Given the description of an element on the screen output the (x, y) to click on. 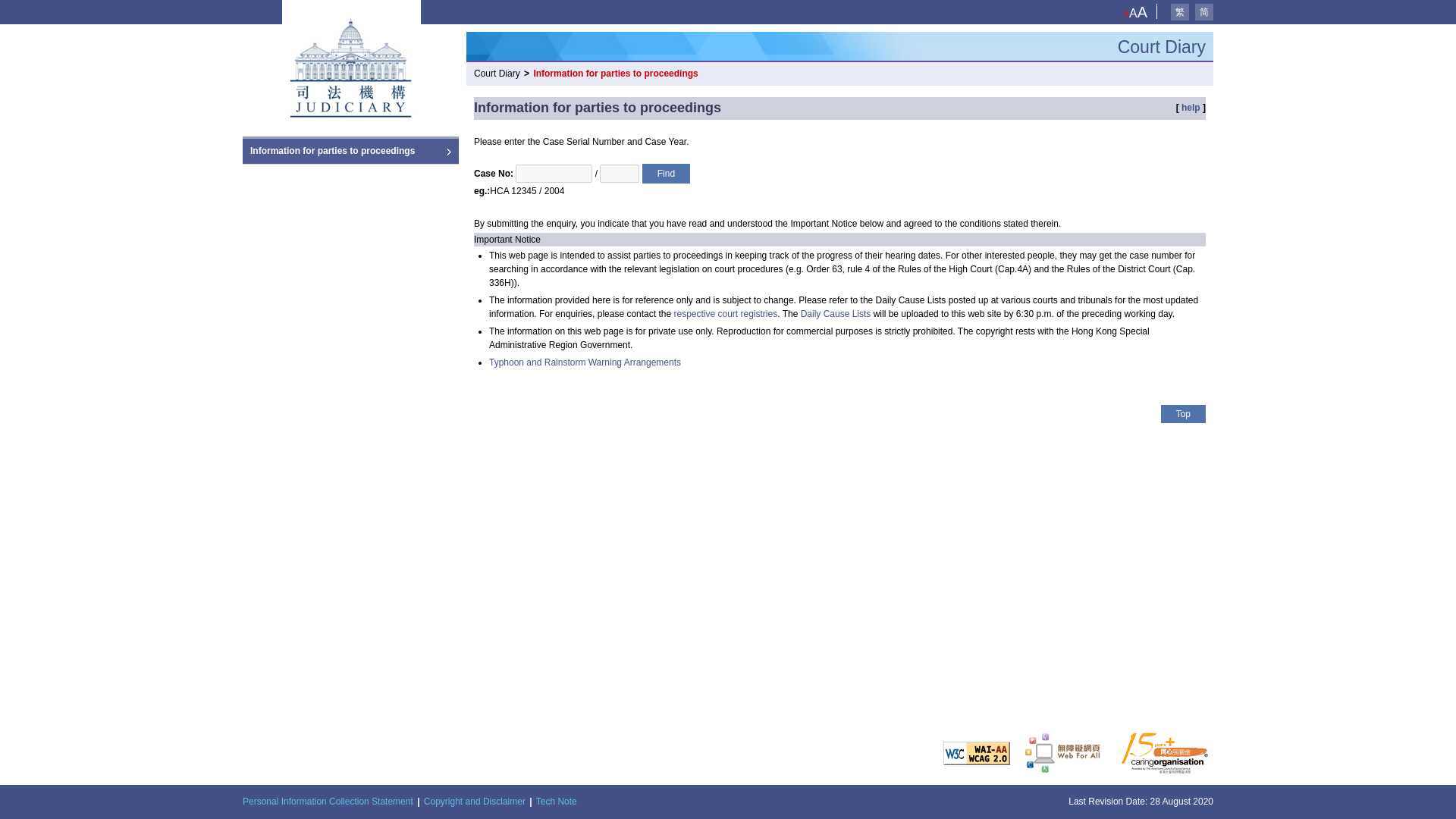
Copyright and Disclaimer (474, 801)
Tech Note (555, 801)
Case Year (619, 173)
help (1189, 107)
Find (666, 173)
Find (666, 173)
respective court registries (724, 313)
Typhoon and Rainstorm Warning Arrangements (585, 362)
Top (1182, 413)
Tech Note (555, 801)
